Given the description of an element on the screen output the (x, y) to click on. 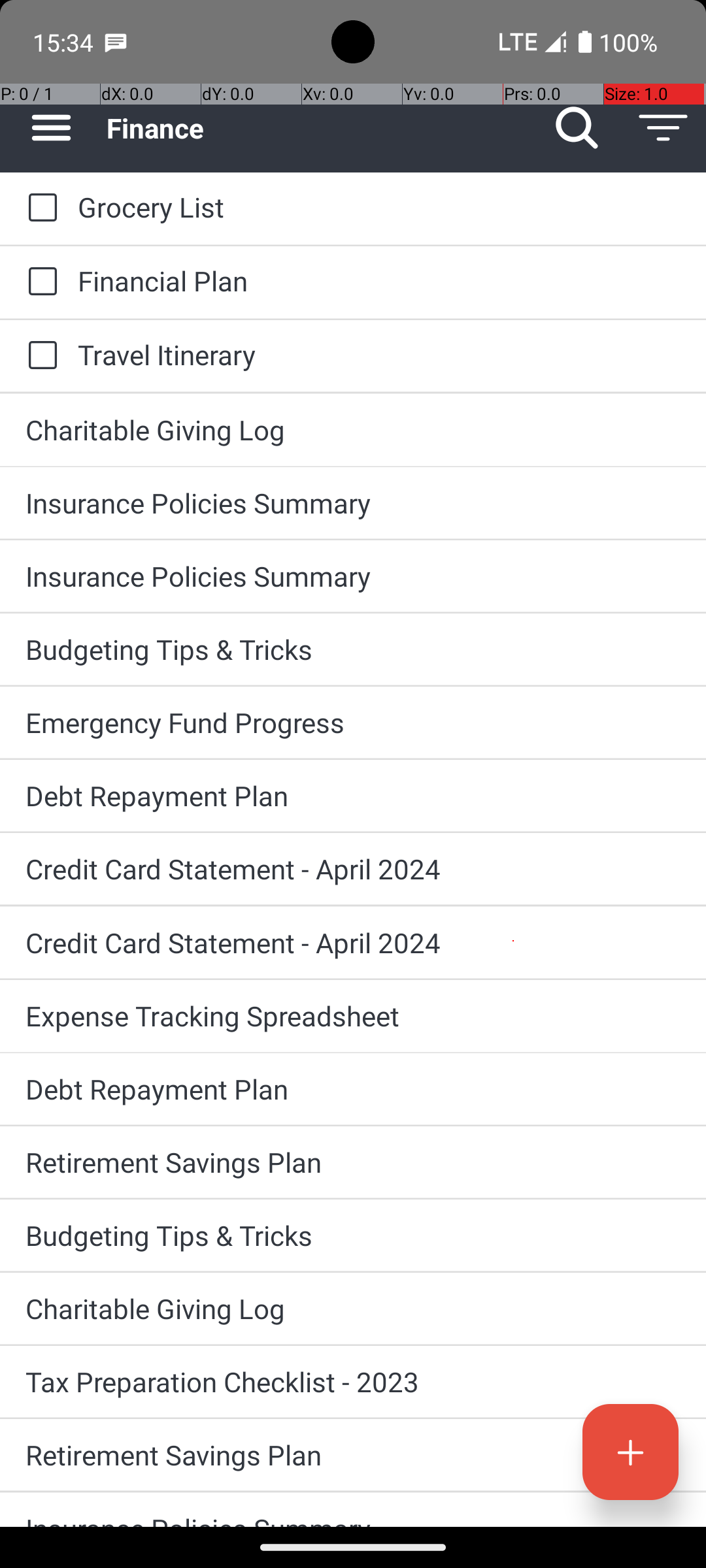
to-do: Grocery List Element type: android.widget.CheckBox (38, 208)
Grocery List Element type: android.widget.TextView (378, 206)
to-do: Financial Plan Element type: android.widget.CheckBox (38, 282)
Financial Plan Element type: android.widget.TextView (378, 280)
to-do: Travel Itinerary Element type: android.widget.CheckBox (38, 356)
Travel Itinerary Element type: android.widget.TextView (378, 354)
Charitable Giving Log Element type: android.widget.TextView (352, 429)
Insurance Policies Summary Element type: android.widget.TextView (352, 502)
Budgeting Tips & Tricks Element type: android.widget.TextView (352, 648)
Emergency Fund Progress Element type: android.widget.TextView (352, 721)
Debt Repayment Plan Element type: android.widget.TextView (352, 795)
Credit Card Statement - April 2024 Element type: android.widget.TextView (352, 868)
Expense Tracking Spreadsheet Element type: android.widget.TextView (352, 1015)
Tax Preparation Checklist - 2023 Element type: android.widget.TextView (352, 1381)
